Given the description of an element on the screen output the (x, y) to click on. 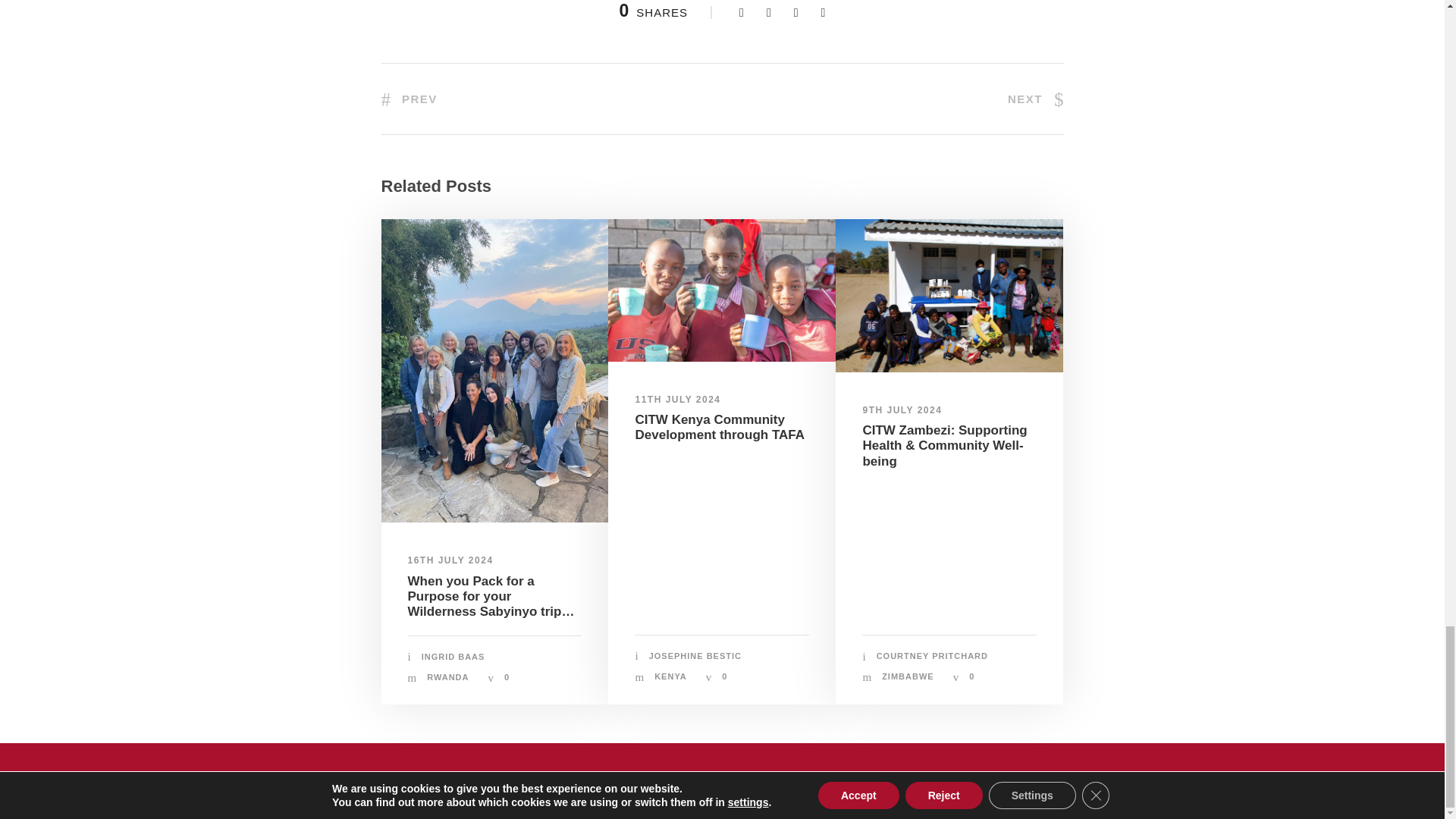
Tafa UJI 11 (721, 290)
Posts by Josephine Bestic (695, 655)
Posts by Ingrid Baas (453, 655)
